Given the description of an element on the screen output the (x, y) to click on. 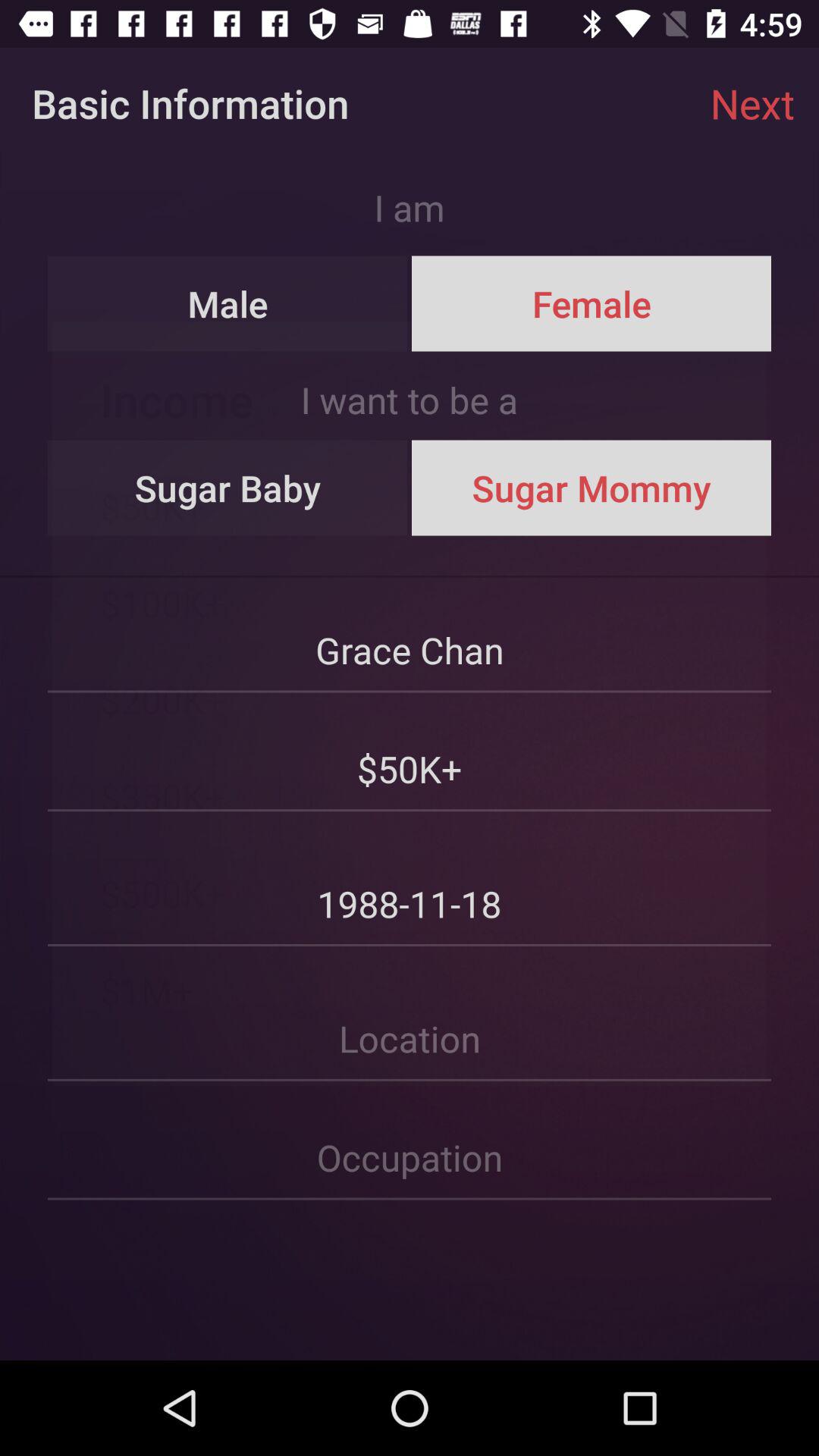
open male icon (227, 303)
